Given the description of an element on the screen output the (x, y) to click on. 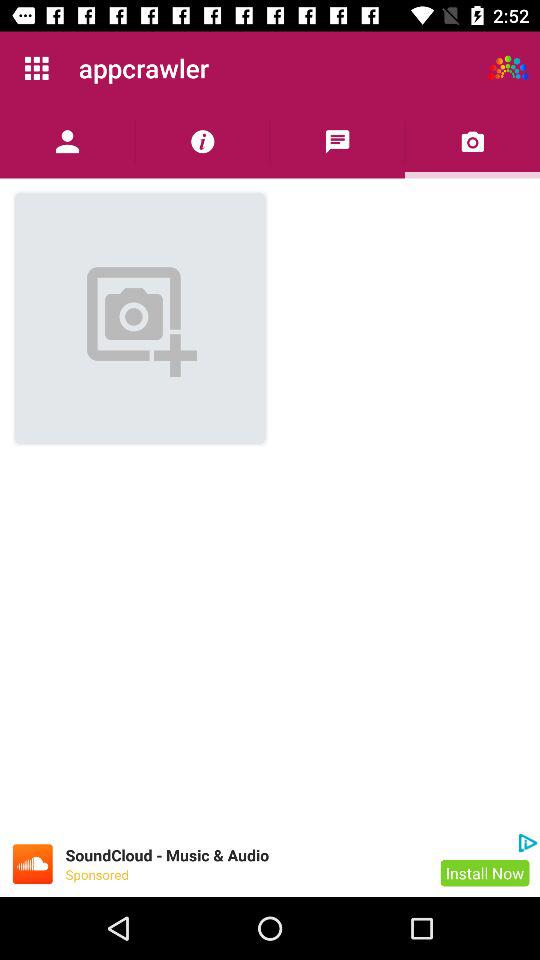
click to activate (508, 67)
